Given the description of an element on the screen output the (x, y) to click on. 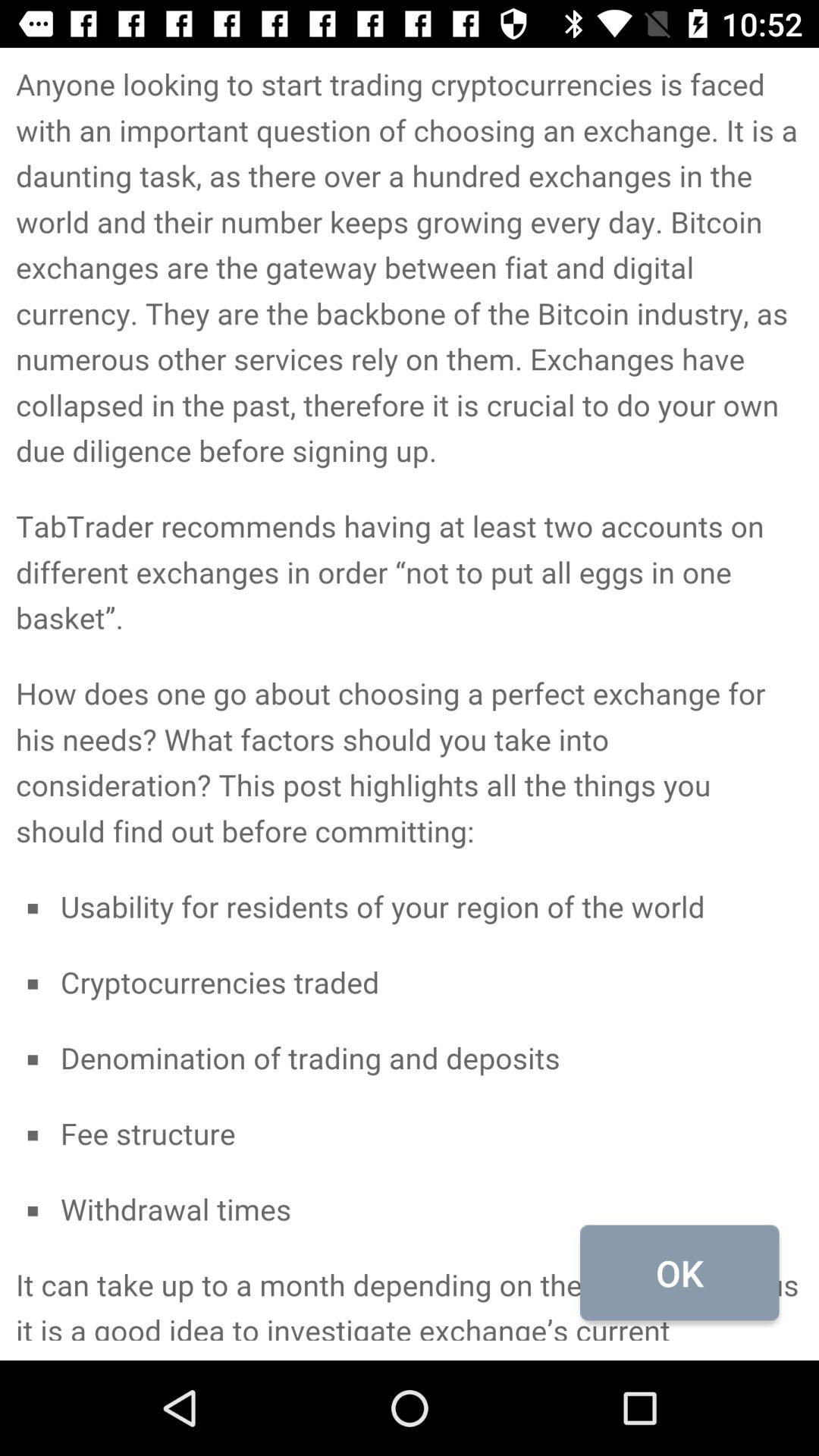
click the ok at the bottom right corner (679, 1272)
